Given the description of an element on the screen output the (x, y) to click on. 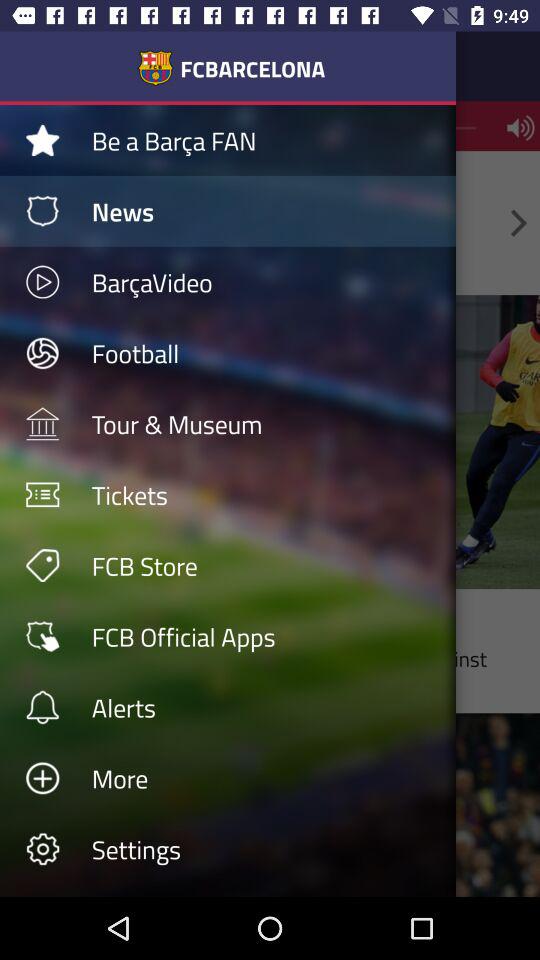
click on the image icon to the left of the text news (41, 210)
click on the icon which is left to the fcb store (41, 564)
click on play button (41, 281)
